Given the description of an element on the screen output the (x, y) to click on. 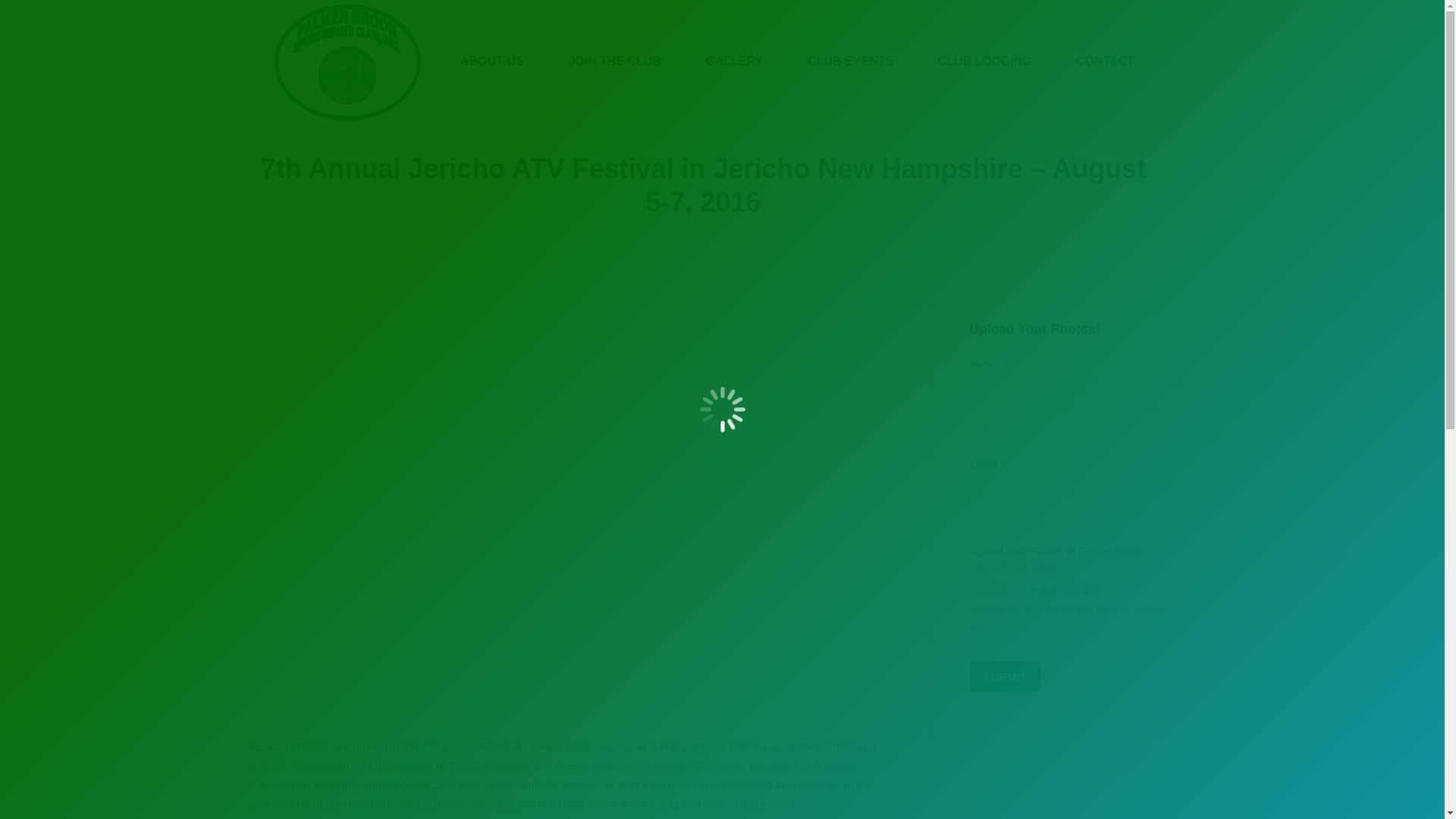
CLUB EVENTS (850, 60)
CONTACT (1105, 60)
ABOUT US (491, 60)
Home (586, 228)
CLUB LODGING (983, 60)
GALLERY (734, 60)
Submit (1005, 675)
Club Events (641, 228)
JOIN THE CLUB (614, 60)
